Given the description of an element on the screen output the (x, y) to click on. 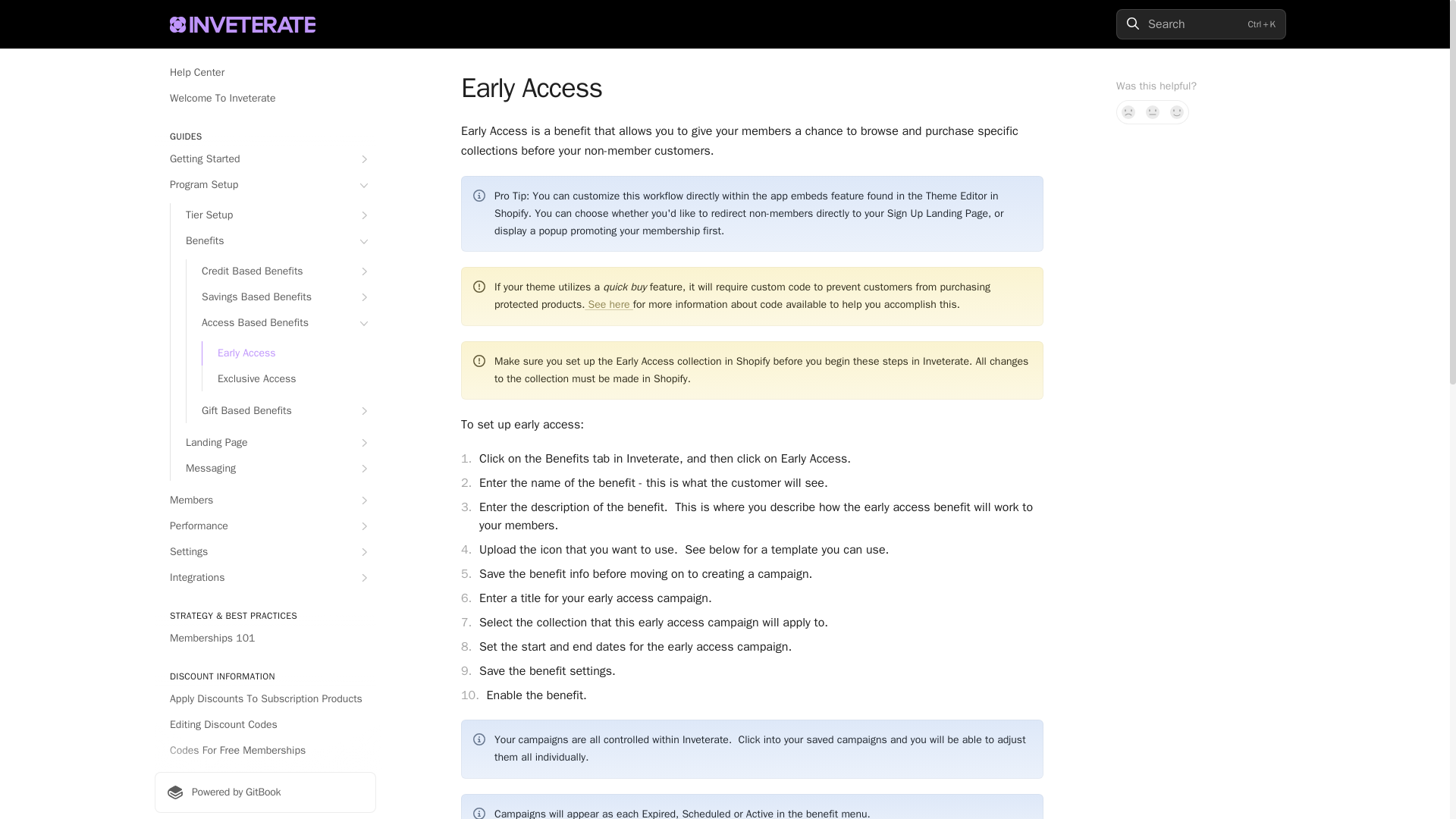
No (1128, 111)
Benefits (272, 241)
Help Center (264, 72)
Tier Setup (272, 215)
Credit Based Benefits (280, 271)
Access Based Benefits (280, 322)
Exclusive Access (288, 378)
Getting Started (264, 159)
Not sure (1152, 111)
Early Access (288, 353)
